Given the description of an element on the screen output the (x, y) to click on. 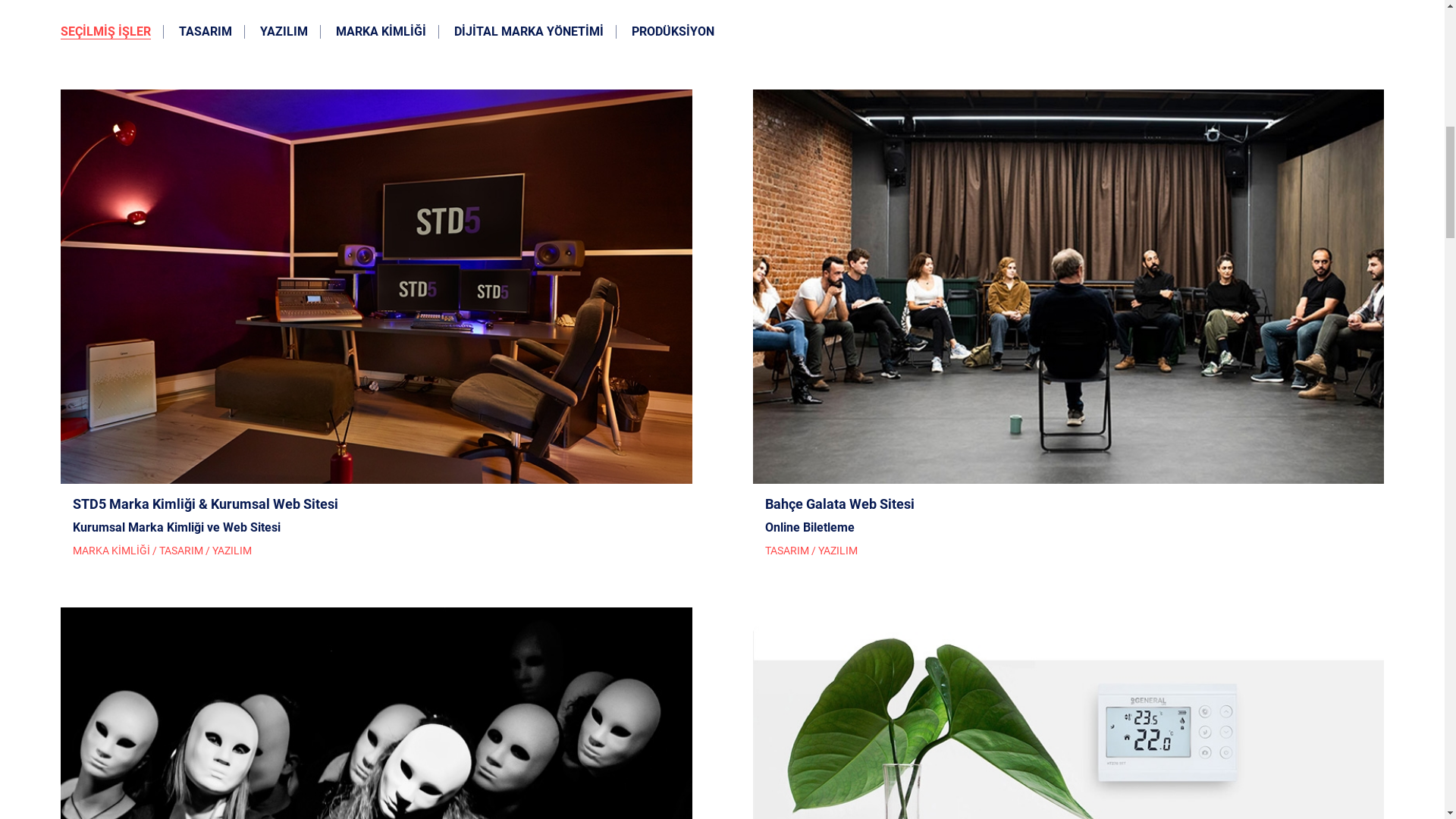
ENGLISH Element type: text (1225, 801)
